Given the description of an element on the screen output the (x, y) to click on. 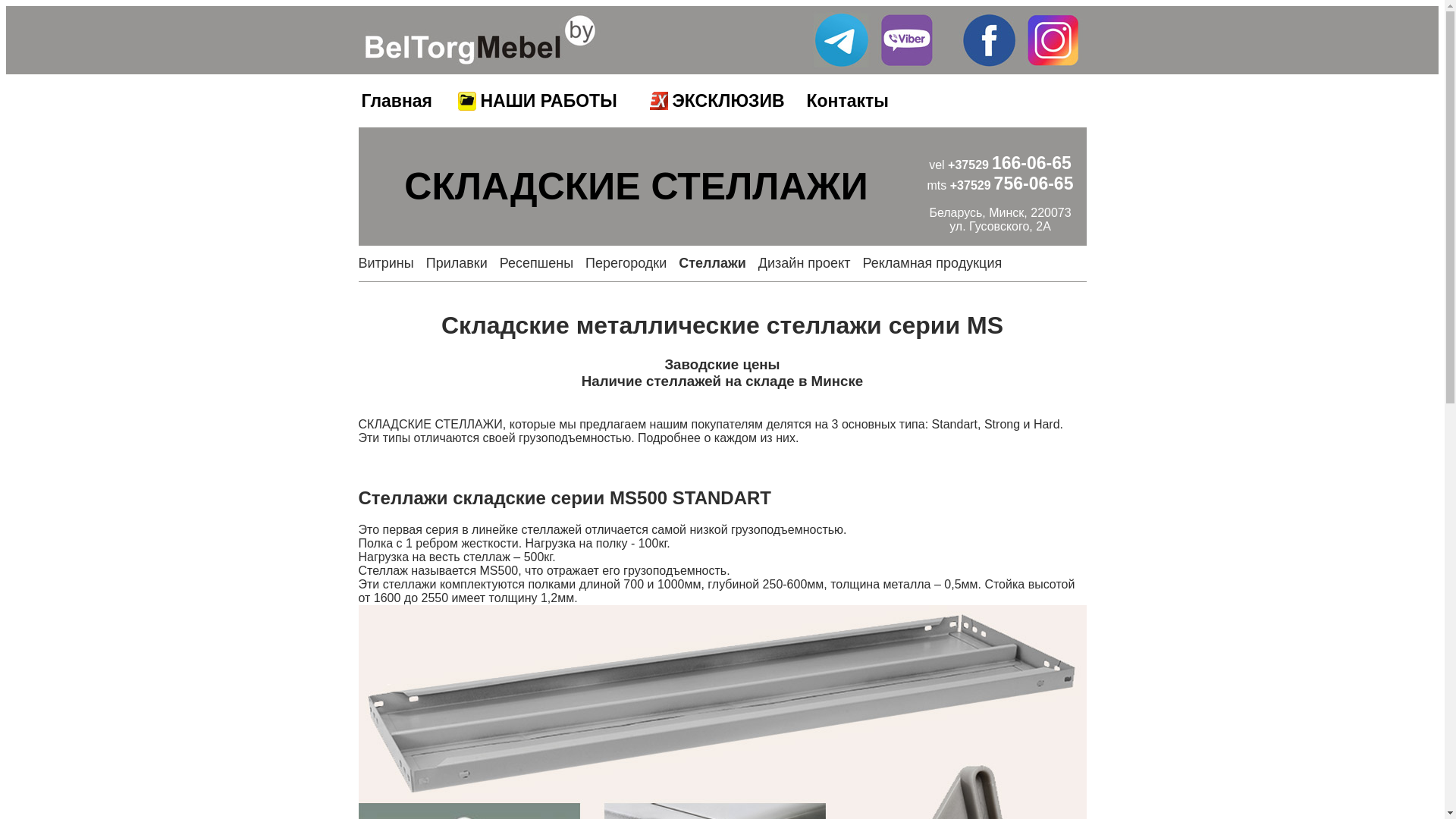
166-06-65 Element type: text (1031, 162)
756-06-65 Element type: text (1033, 183)
